Given the description of an element on the screen output the (x, y) to click on. 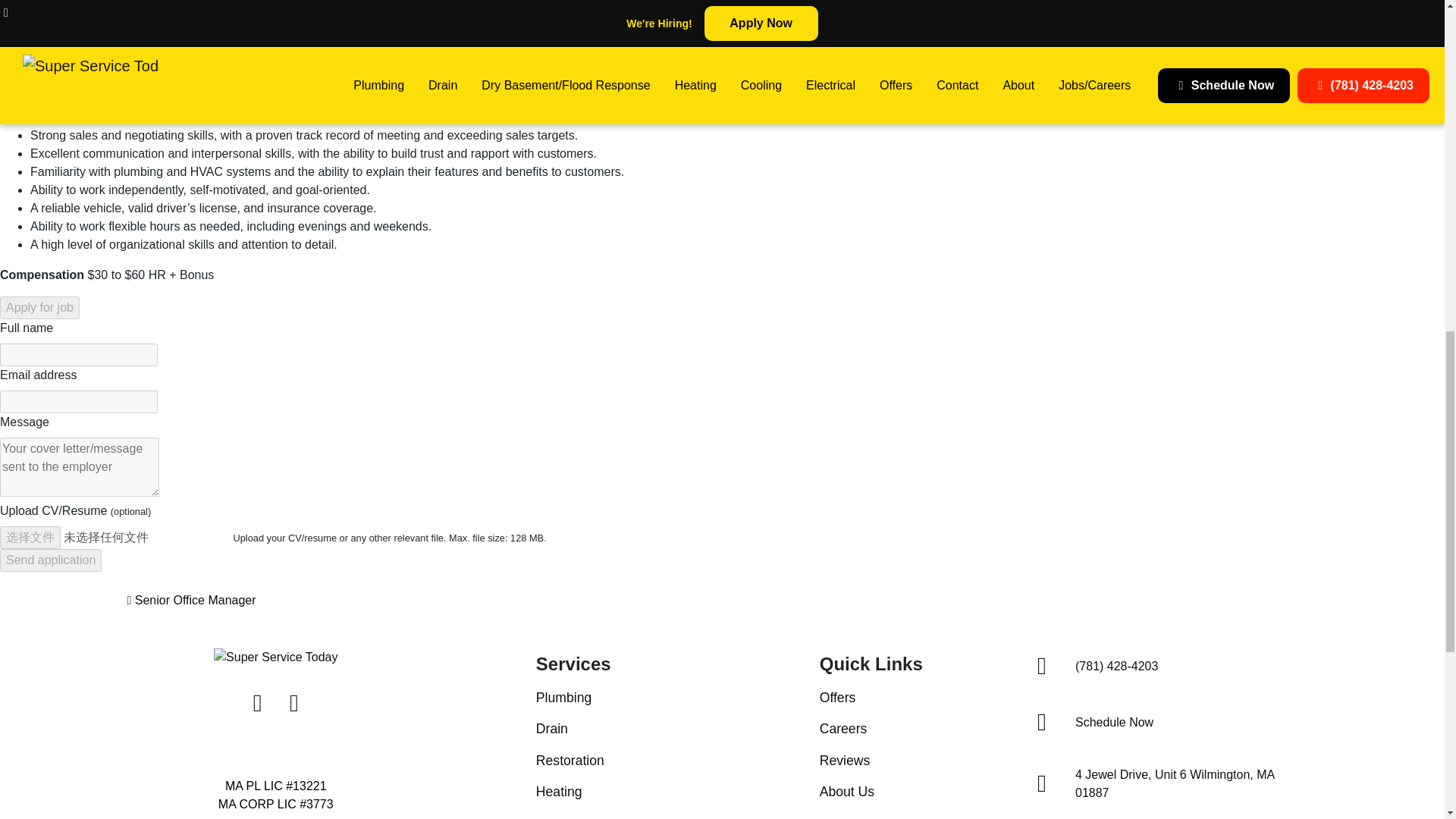
Apply for job (40, 307)
Send application (50, 559)
